Given the description of an element on the screen output the (x, y) to click on. 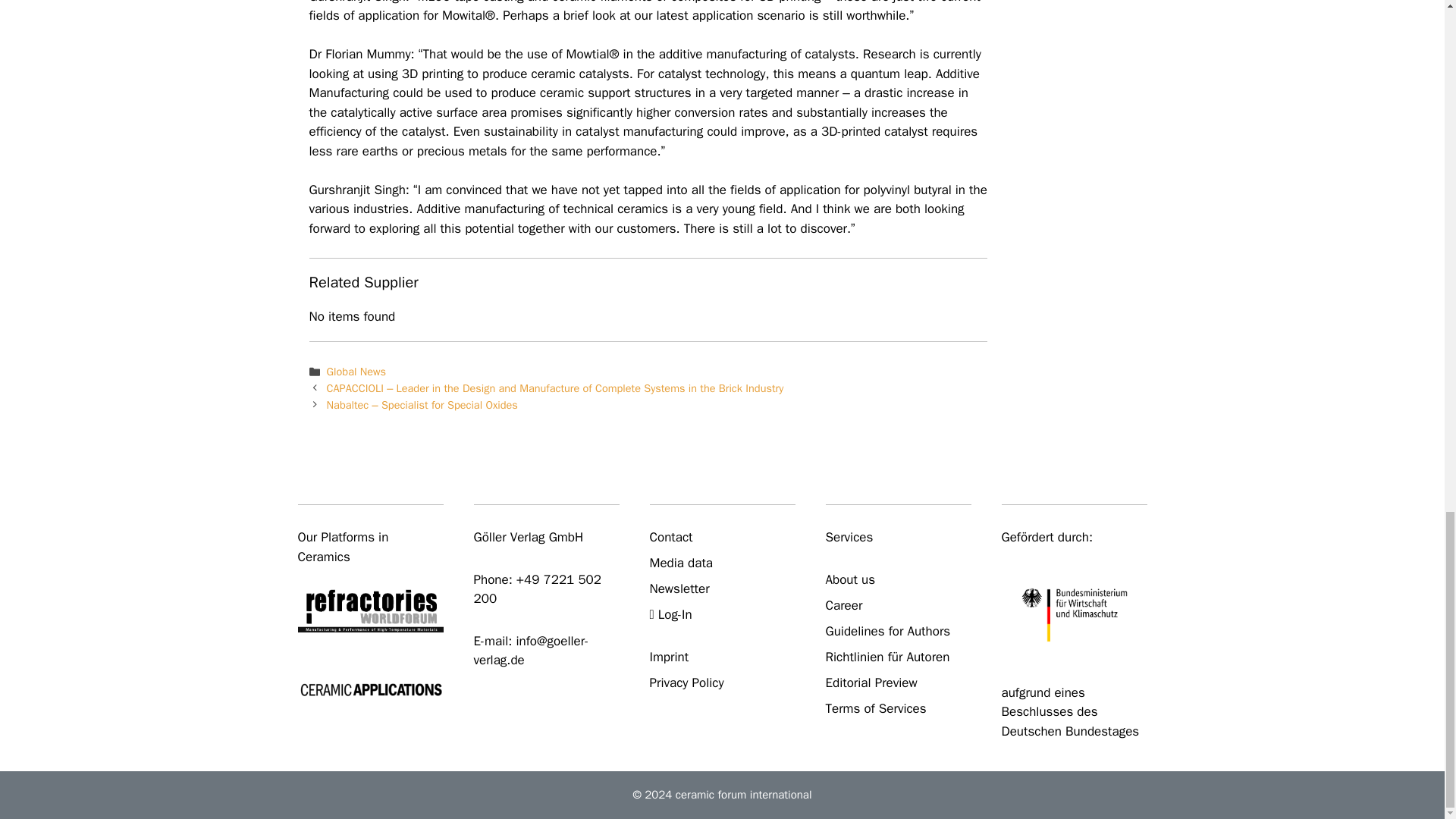
Scroll back to top (1406, 153)
